Given the description of an element on the screen output the (x, y) to click on. 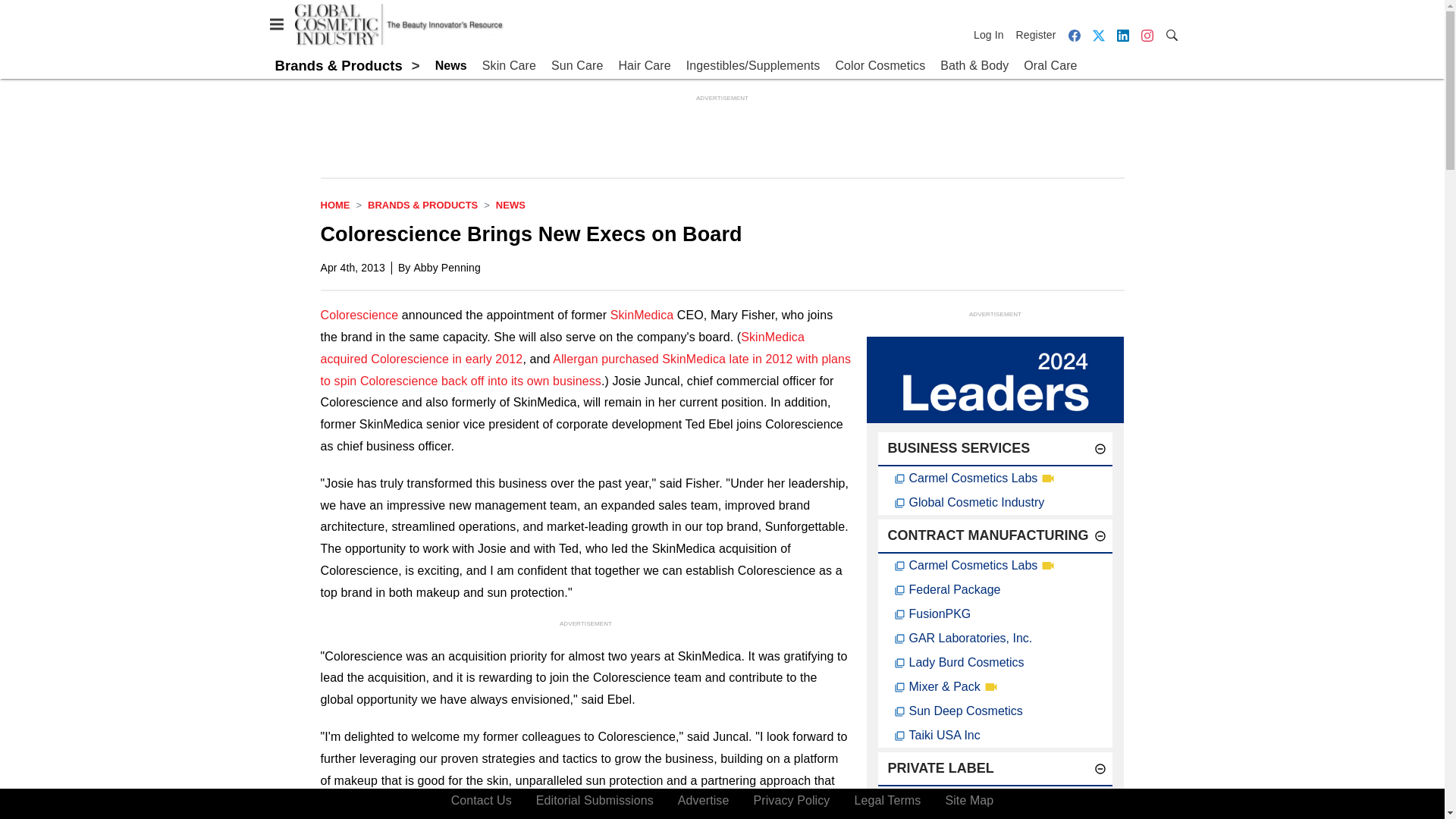
LinkedIn icon (1122, 35)
Instagram icon (1146, 35)
Facebook icon (1073, 35)
Twitter X icon (1097, 35)
